Given the description of an element on the screen output the (x, y) to click on. 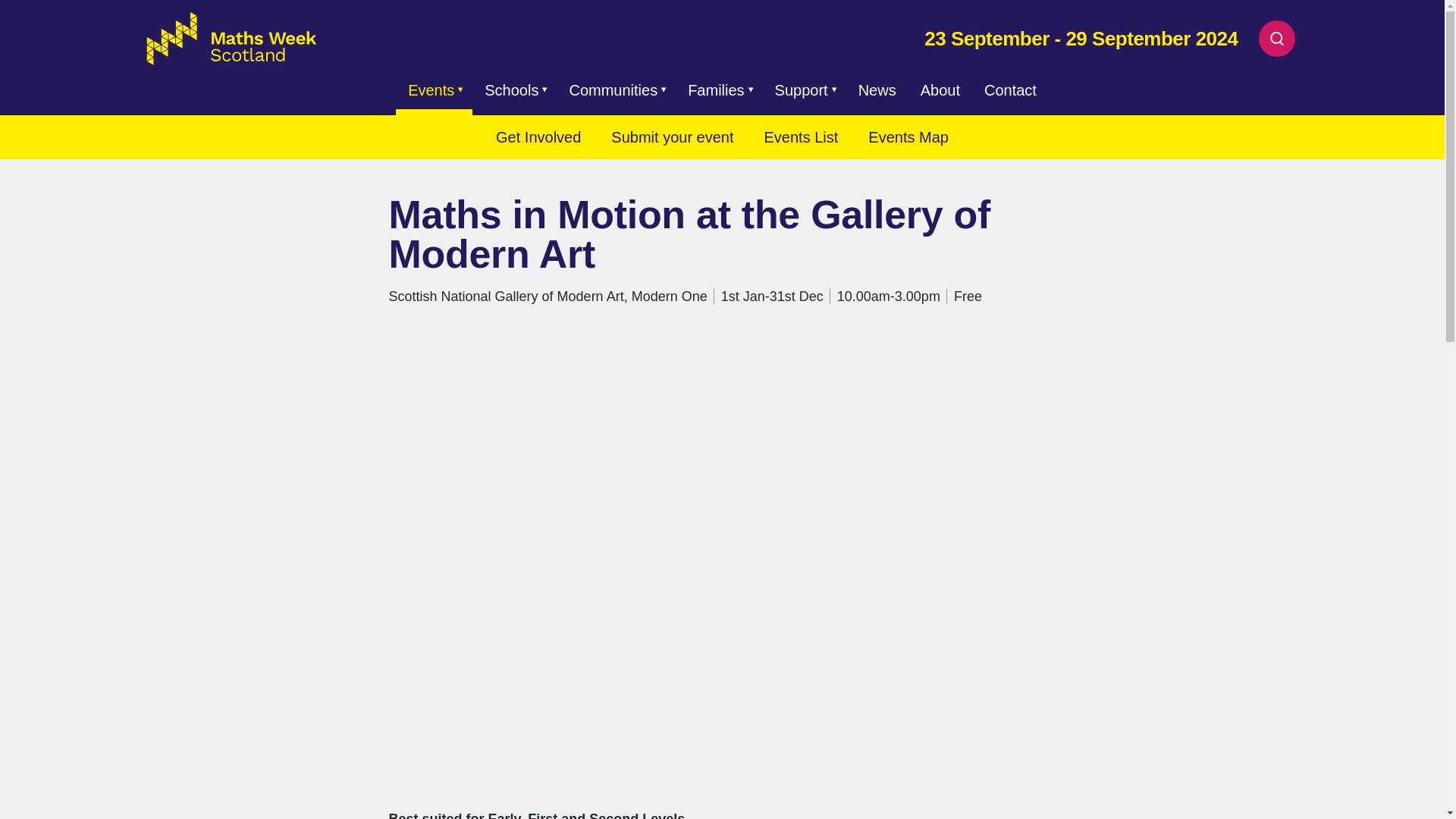
Events List (801, 137)
Submit your event (671, 137)
Families (710, 89)
Events Map (908, 137)
Events List (801, 137)
Contact (1010, 89)
About (940, 89)
Support (796, 89)
News (876, 89)
Events (426, 89)
